Given the description of an element on the screen output the (x, y) to click on. 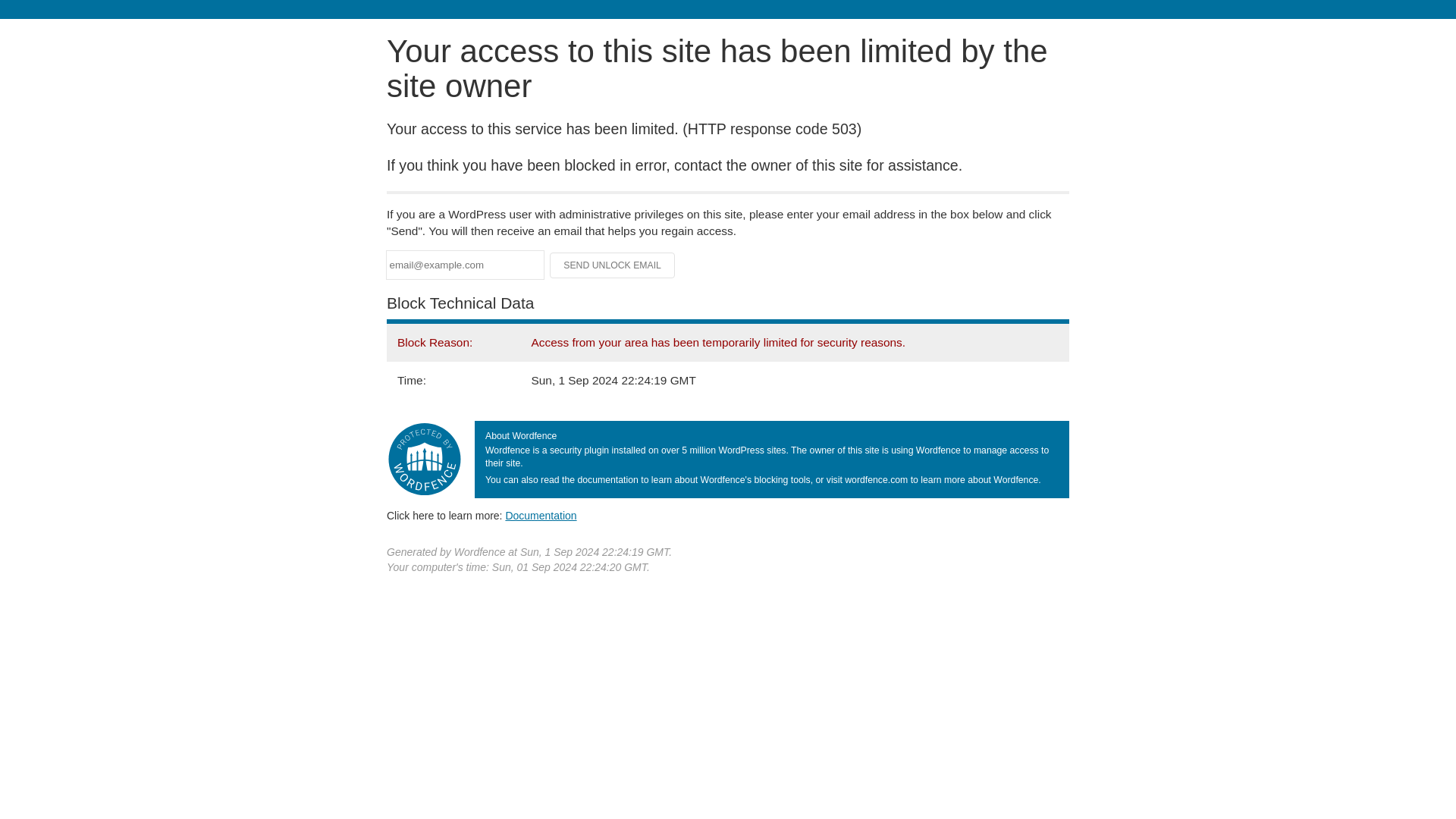
Documentation (540, 515)
Send Unlock Email (612, 265)
Send Unlock Email (612, 265)
